Given the description of an element on the screen output the (x, y) to click on. 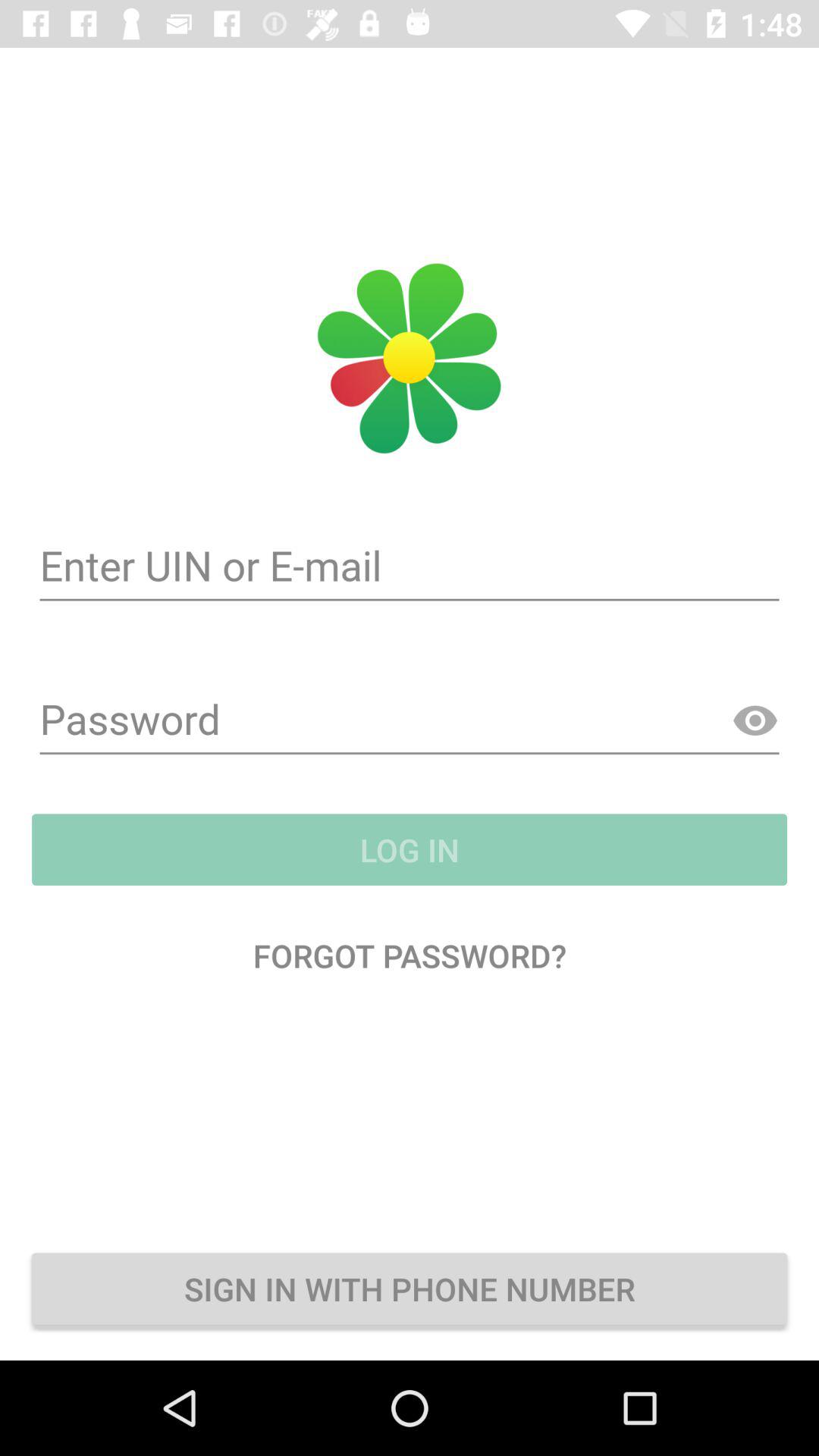
click item below log in icon (409, 955)
